Given the description of an element on the screen output the (x, y) to click on. 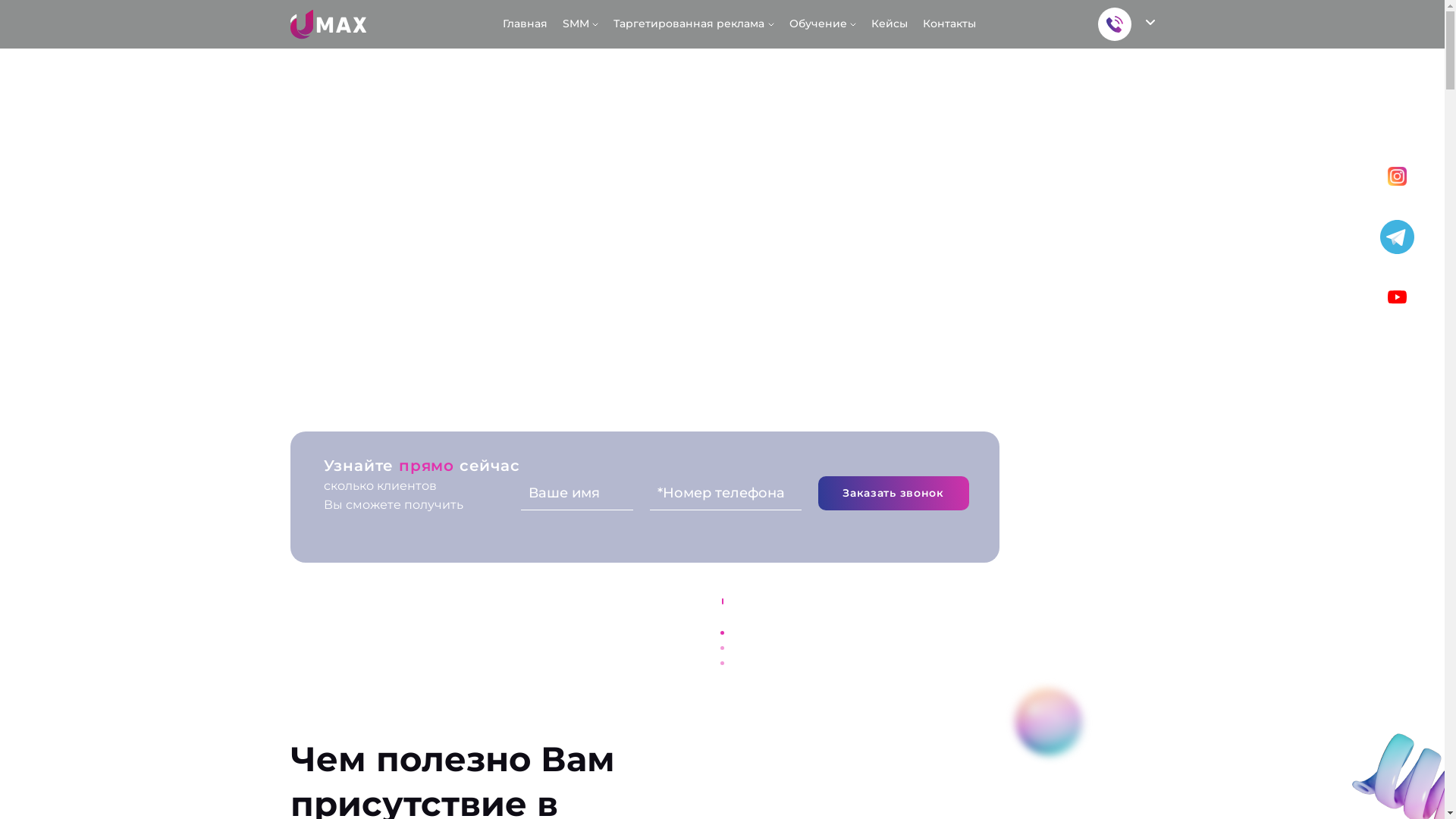
SMM Element type: text (580, 23)
